Given the description of an element on the screen output the (x, y) to click on. 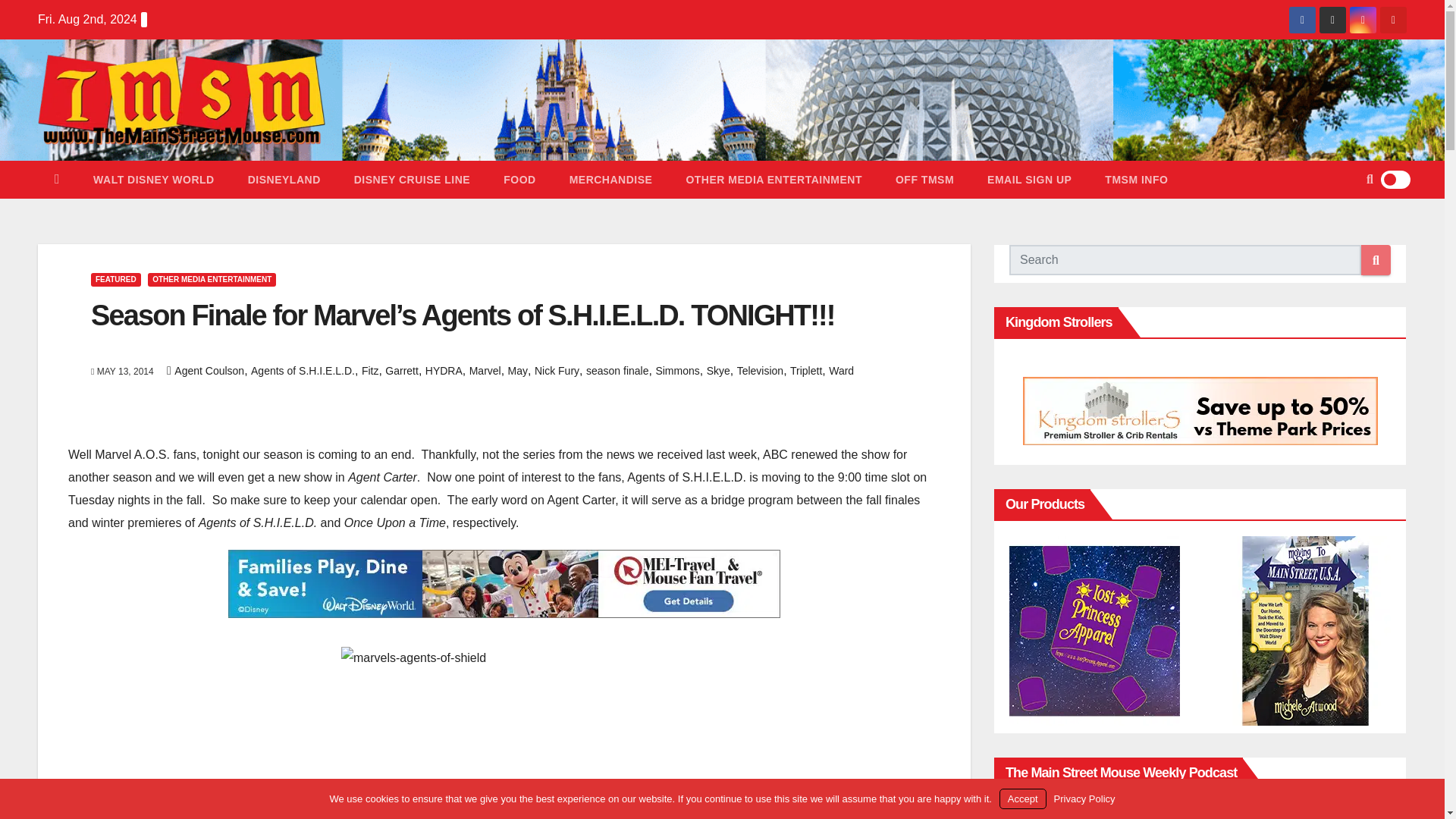
May (517, 370)
EMAIL SIGN UP (1029, 179)
TMSM INFO (1136, 179)
Disneyland (284, 179)
Agent Coulson (209, 370)
Off TMSM (925, 179)
Marvel (484, 370)
MERCHANDISE (611, 179)
TMSM Info (1136, 179)
Email Sign Up (1029, 179)
